Given the description of an element on the screen output the (x, y) to click on. 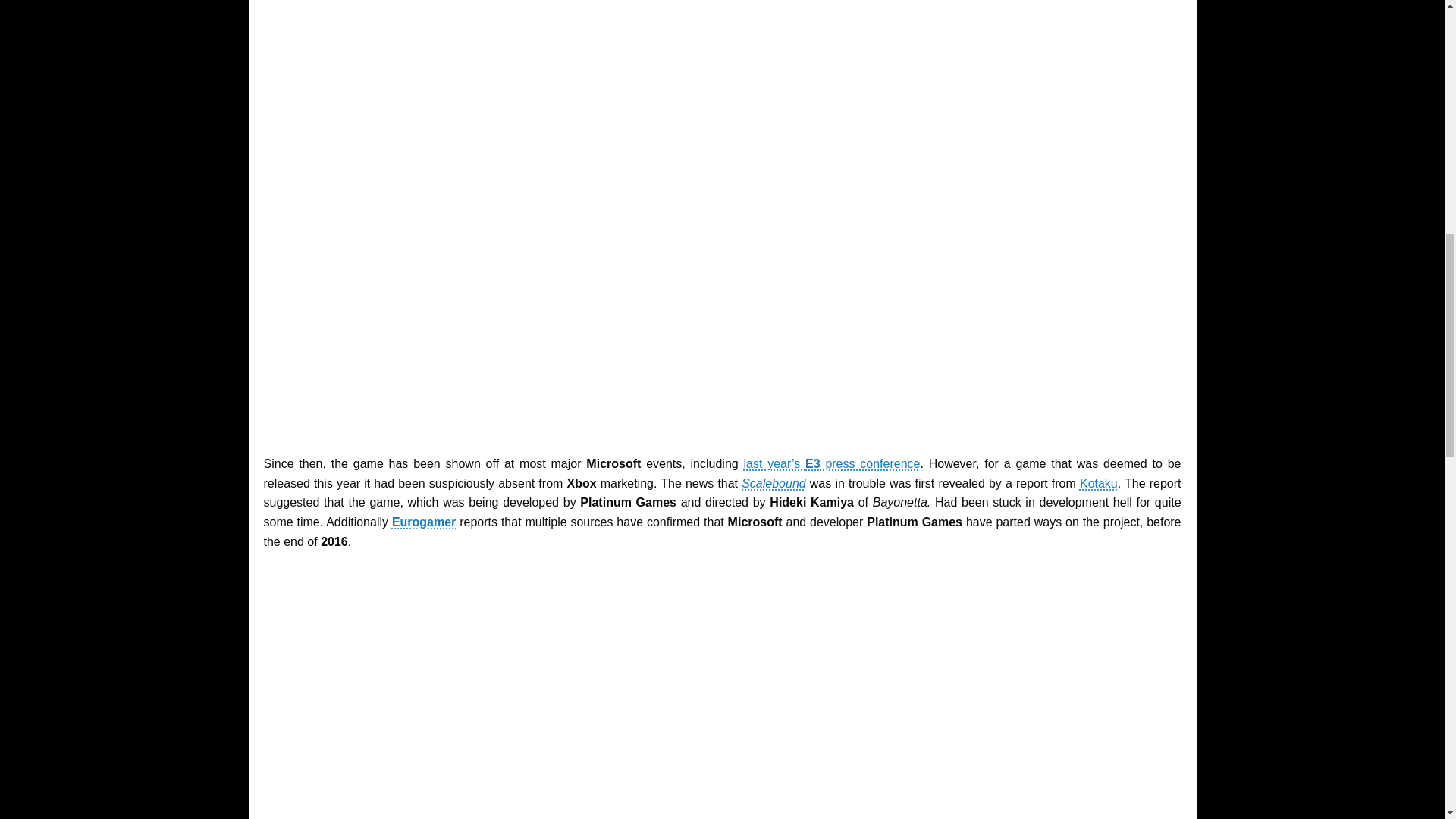
Kotaku (1099, 482)
Eurogamer (423, 521)
Scalebound (773, 482)
